Given the description of an element on the screen output the (x, y) to click on. 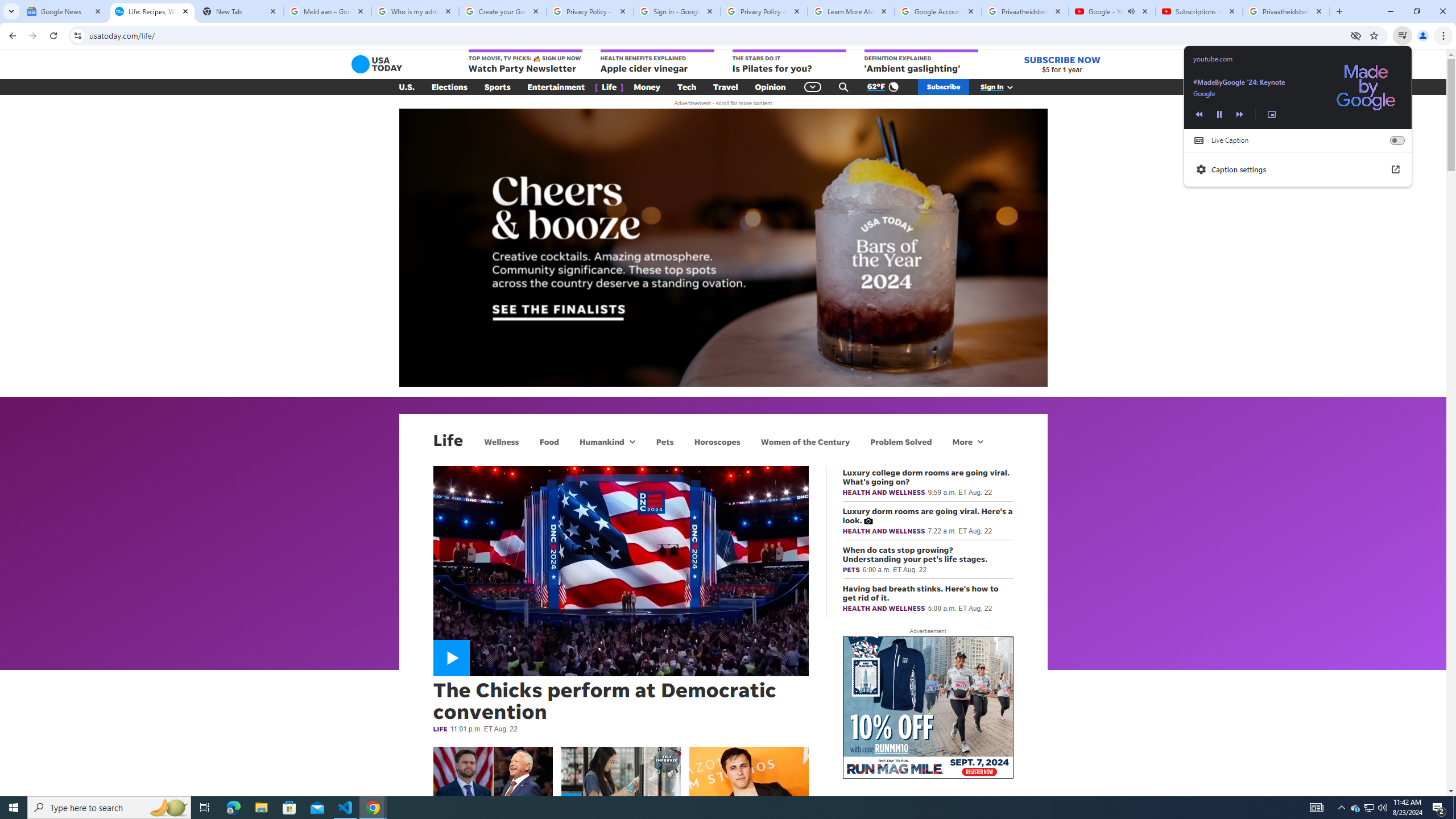
System (6, 6)
Humankind (600, 441)
THE STARS DO IT Is Pilates for you? (788, 62)
Pets (664, 441)
Reload (52, 35)
Start (13, 807)
Mute tab (1130, 10)
Seek Backward (1198, 114)
Travel (725, 87)
Back (10, 35)
View site information (77, 35)
Women of the Century (805, 441)
New Tab (239, 11)
Life: Recipes, Wellness & Horoscopes - USA TODAY (151, 11)
